Given the description of an element on the screen output the (x, y) to click on. 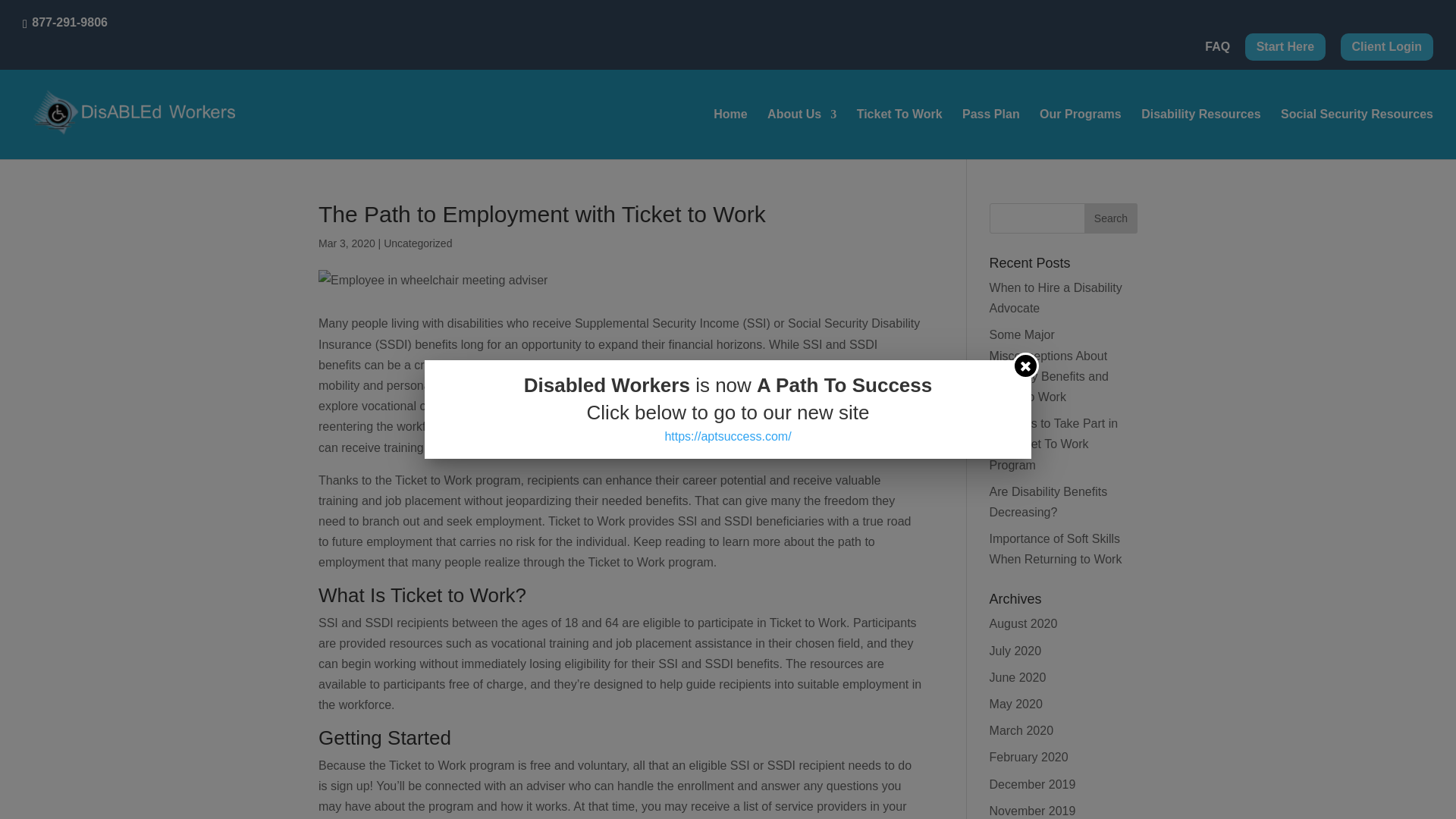
Uncategorized (417, 243)
Client Login (1386, 39)
Are Disability Benefits Decreasing? (1049, 501)
FAQ (1217, 51)
Our Programs (1080, 133)
Search (1110, 218)
Disability Resources (1200, 133)
Ticket To Work (899, 133)
877-291-9806 (69, 21)
Social Security Resources (1356, 133)
Login will be provided once you are working. (1386, 46)
Pass Plan (991, 133)
Search (1110, 218)
About Us (801, 133)
